Given the description of an element on the screen output the (x, y) to click on. 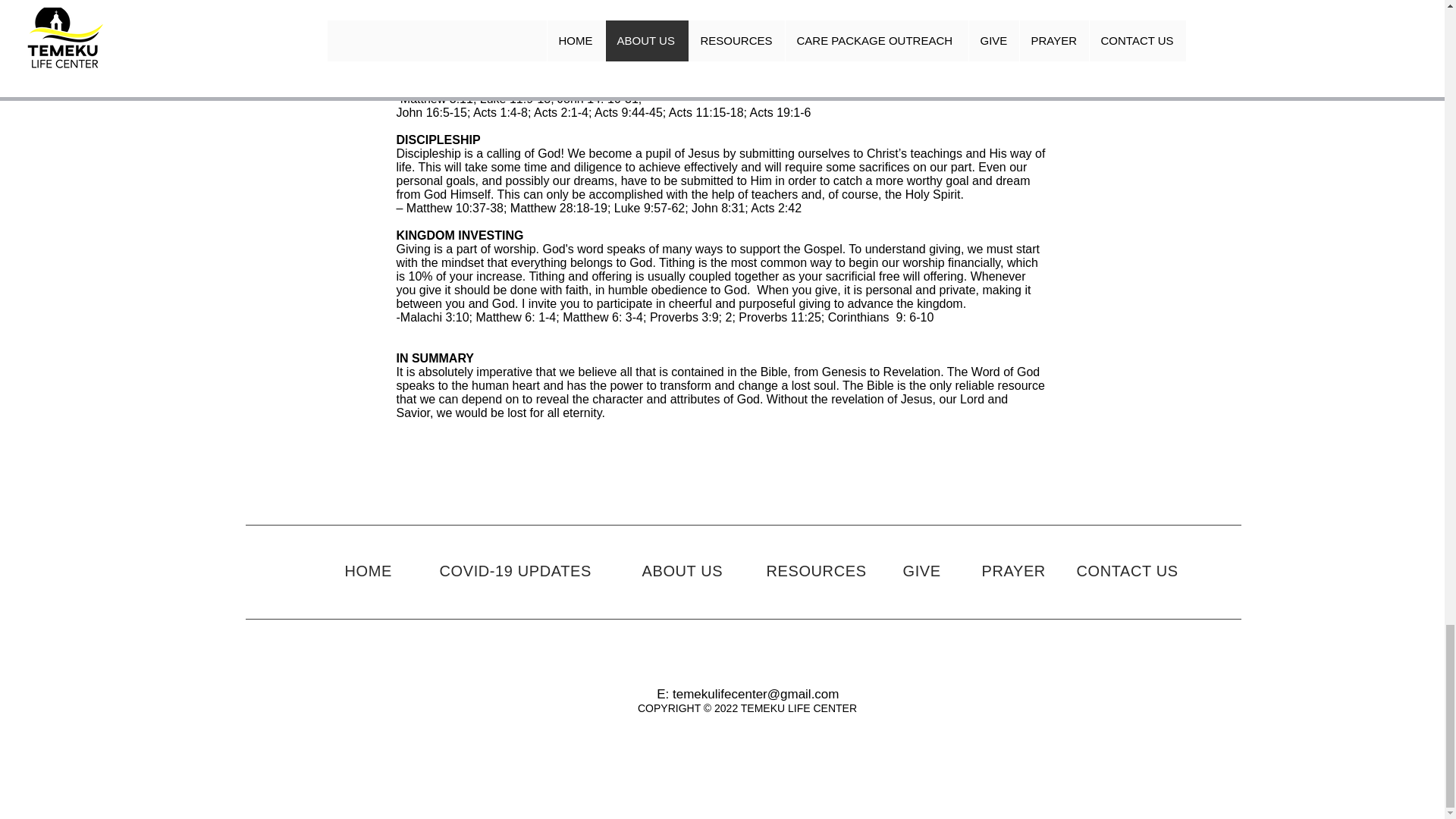
COVID-19 UPDATES (515, 571)
ABOUT US (682, 571)
GIVE (921, 571)
CONTACT US (1127, 571)
PRAYER (1013, 571)
RESOURCES (815, 571)
HOME (367, 570)
